Given the description of an element on the screen output the (x, y) to click on. 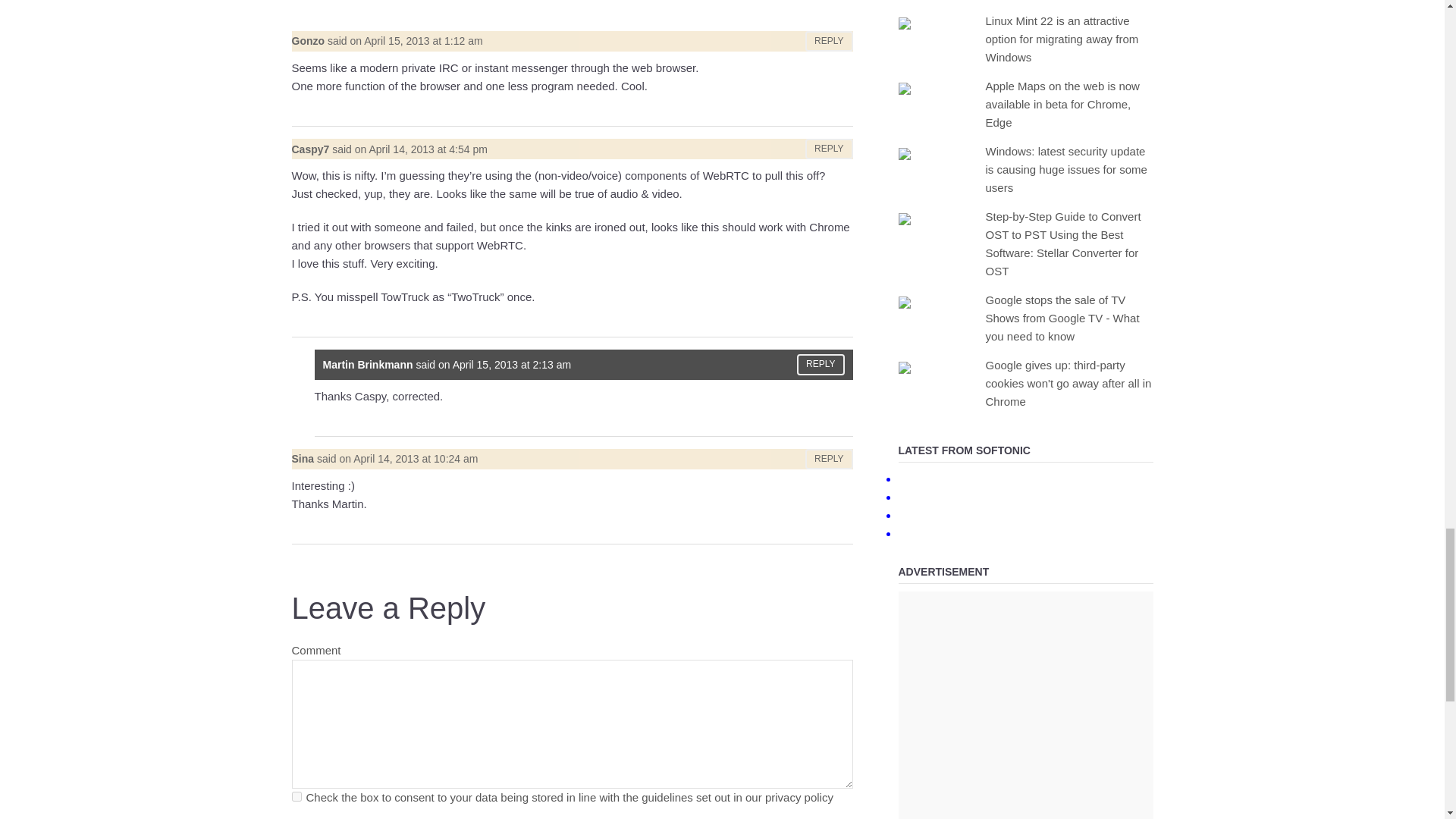
privacy-key (296, 796)
